Given the description of an element on the screen output the (x, y) to click on. 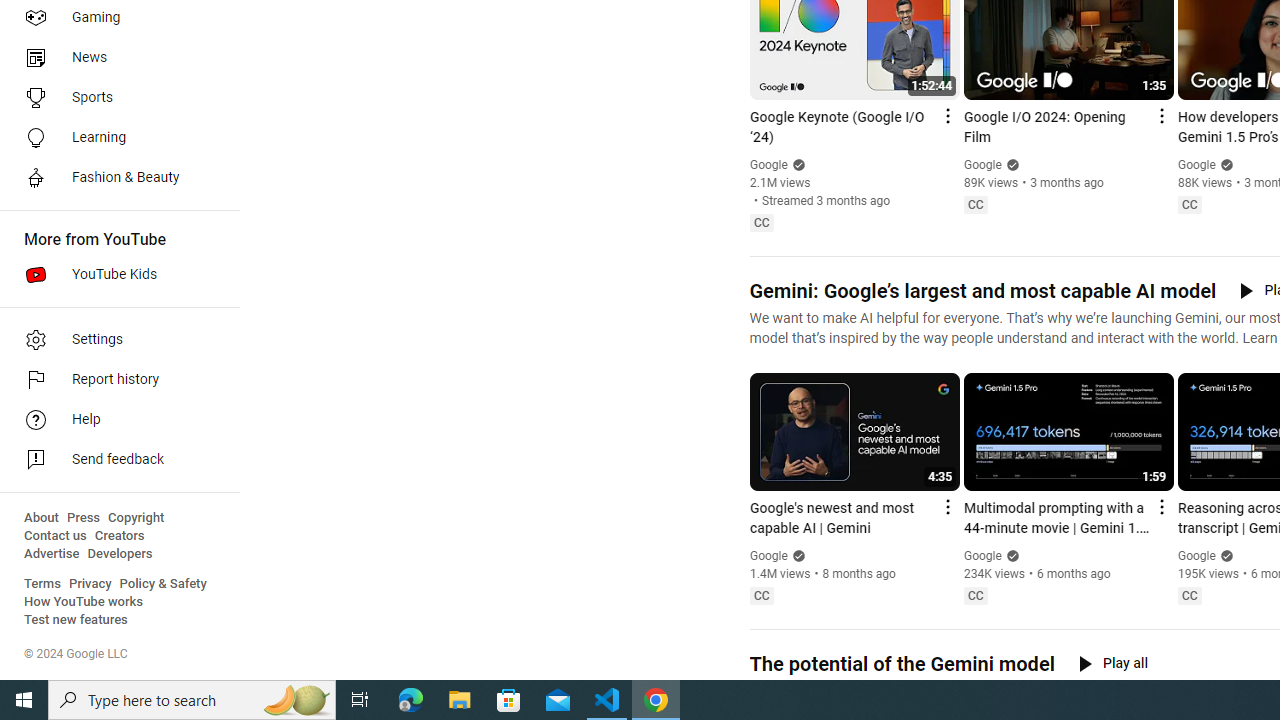
YouTube Kids (113, 274)
Policy & Safety (163, 584)
Google (1197, 556)
Fashion & Beauty (113, 177)
The potential of the Gemini model (901, 664)
Test new features (76, 620)
Copyright (136, 518)
Press (83, 518)
Contact us (55, 536)
Sports (113, 97)
About (41, 518)
